Given the description of an element on the screen output the (x, y) to click on. 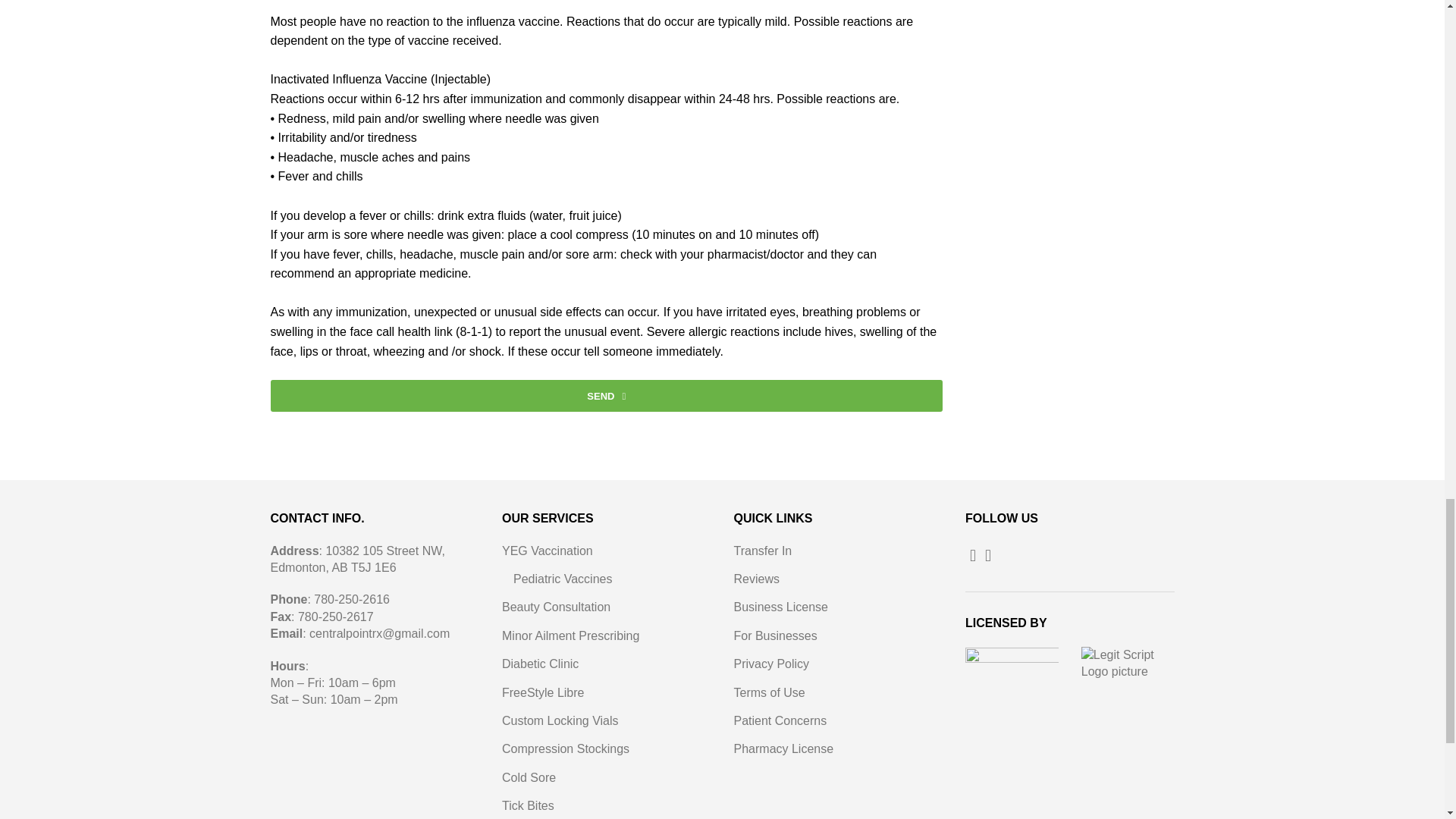
Alberta college of pharmacy logo picture (1011, 663)
Legit Script Logo picture (1127, 663)
SEND (605, 395)
